Given the description of an element on the screen output the (x, y) to click on. 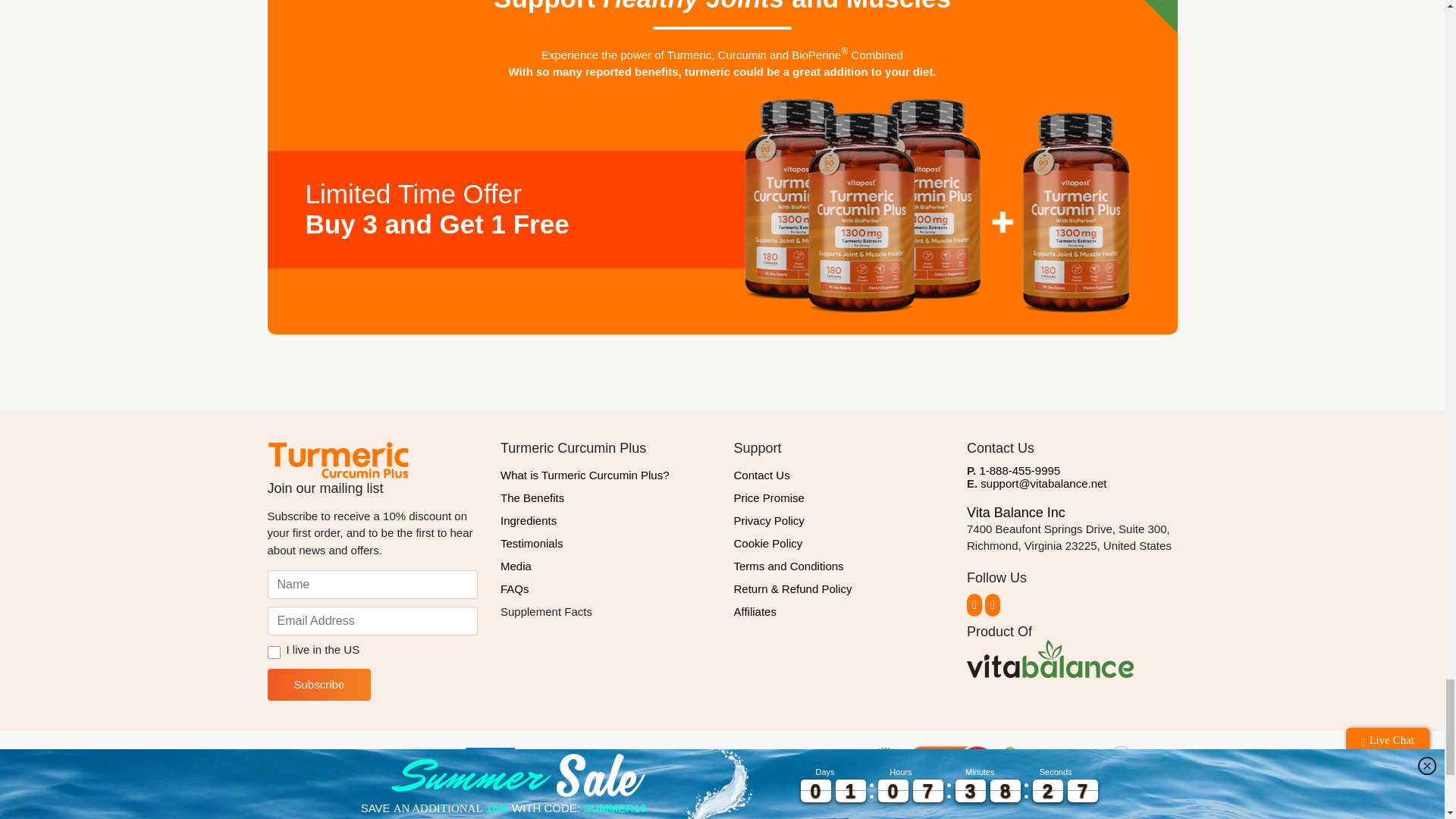
The Benefits (605, 497)
Turmeric Curcumin Plus Official Logo (336, 459)
Vita Balance Official Logo (1050, 658)
Testimonials (605, 543)
Price Promise (838, 497)
What is Turmeric Curcumin Plus? (605, 475)
Subscribe (318, 685)
Contact Us (838, 475)
DMCA.com Protection Status (1049, 766)
Ingredients (605, 520)
Media (605, 566)
FAQs (605, 589)
